Given the description of an element on the screen output the (x, y) to click on. 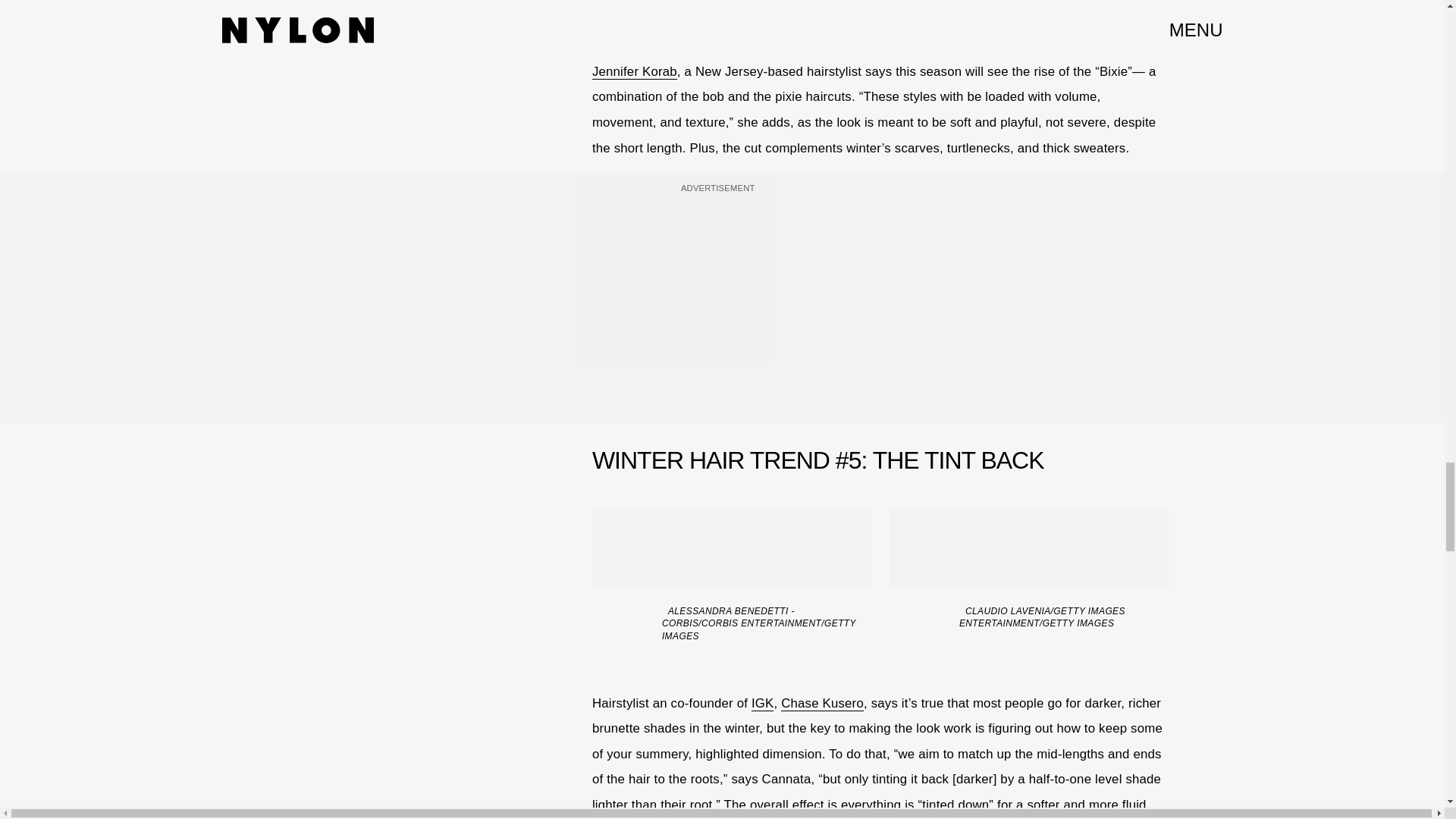
Jennifer Korab (634, 71)
IGK (762, 703)
Chase Kusero (821, 703)
